Given the description of an element on the screen output the (x, y) to click on. 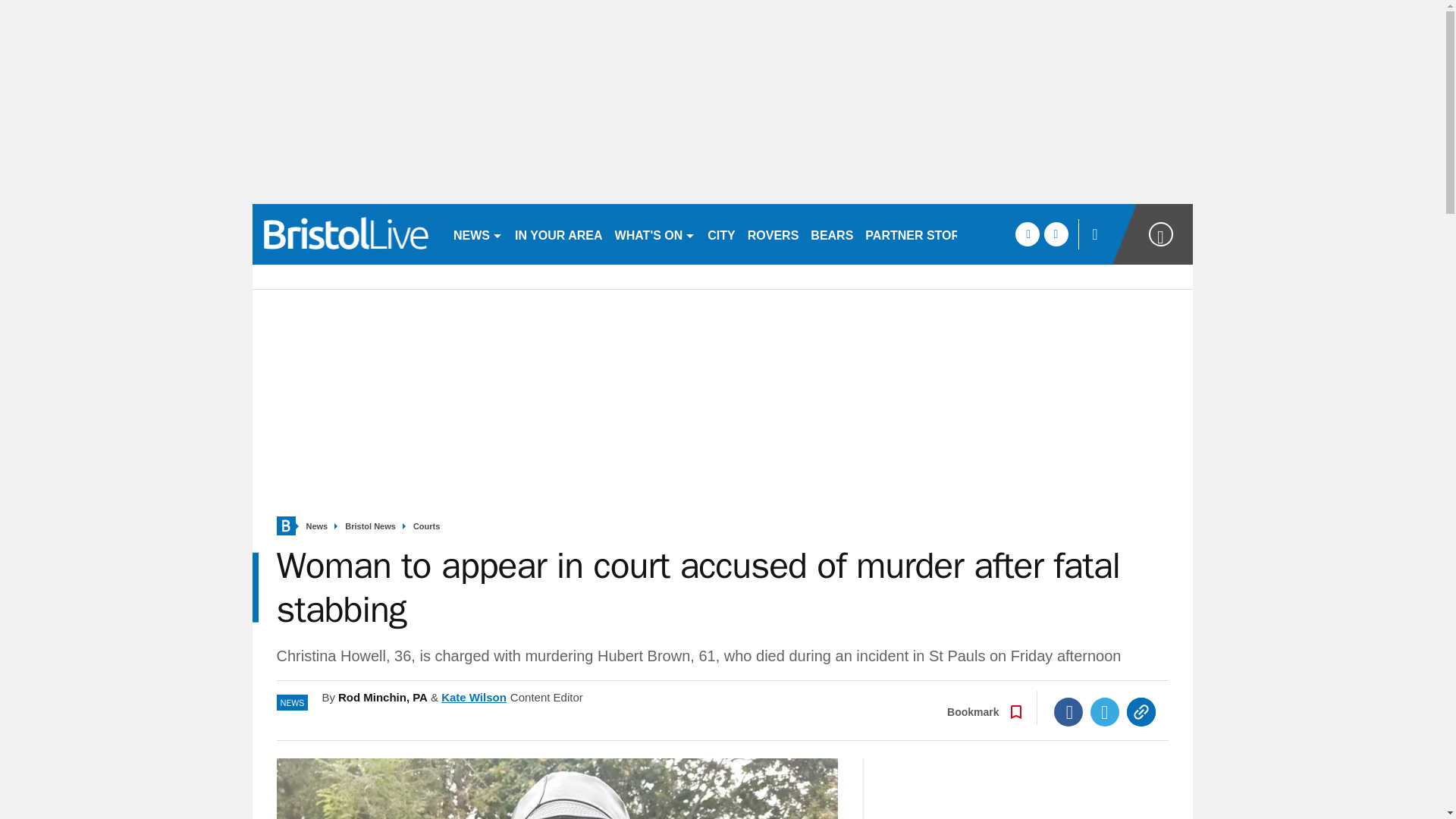
ROVERS (773, 233)
facebook (1026, 233)
BEARS (832, 233)
PARTNER STORIES (922, 233)
twitter (1055, 233)
IN YOUR AREA (558, 233)
NEWS (477, 233)
WHAT'S ON (654, 233)
Twitter (1104, 711)
Facebook (1068, 711)
